Given the description of an element on the screen output the (x, y) to click on. 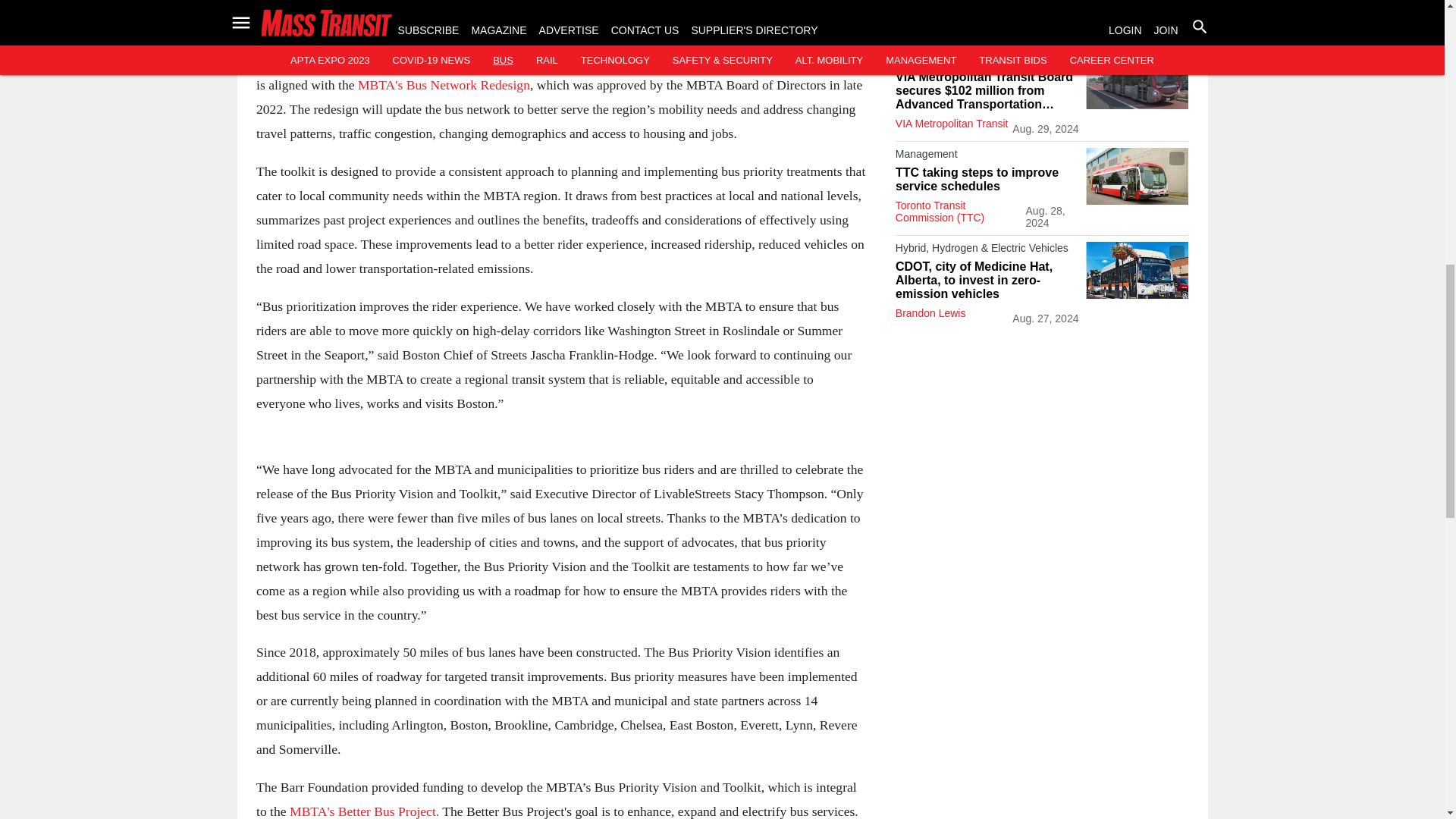
TTC electric bus. (1137, 176)
City of Medicine Hat bus. (1137, 269)
A rendering of the VIA Rapid Silver Line. (1137, 80)
